Given the description of an element on the screen output the (x, y) to click on. 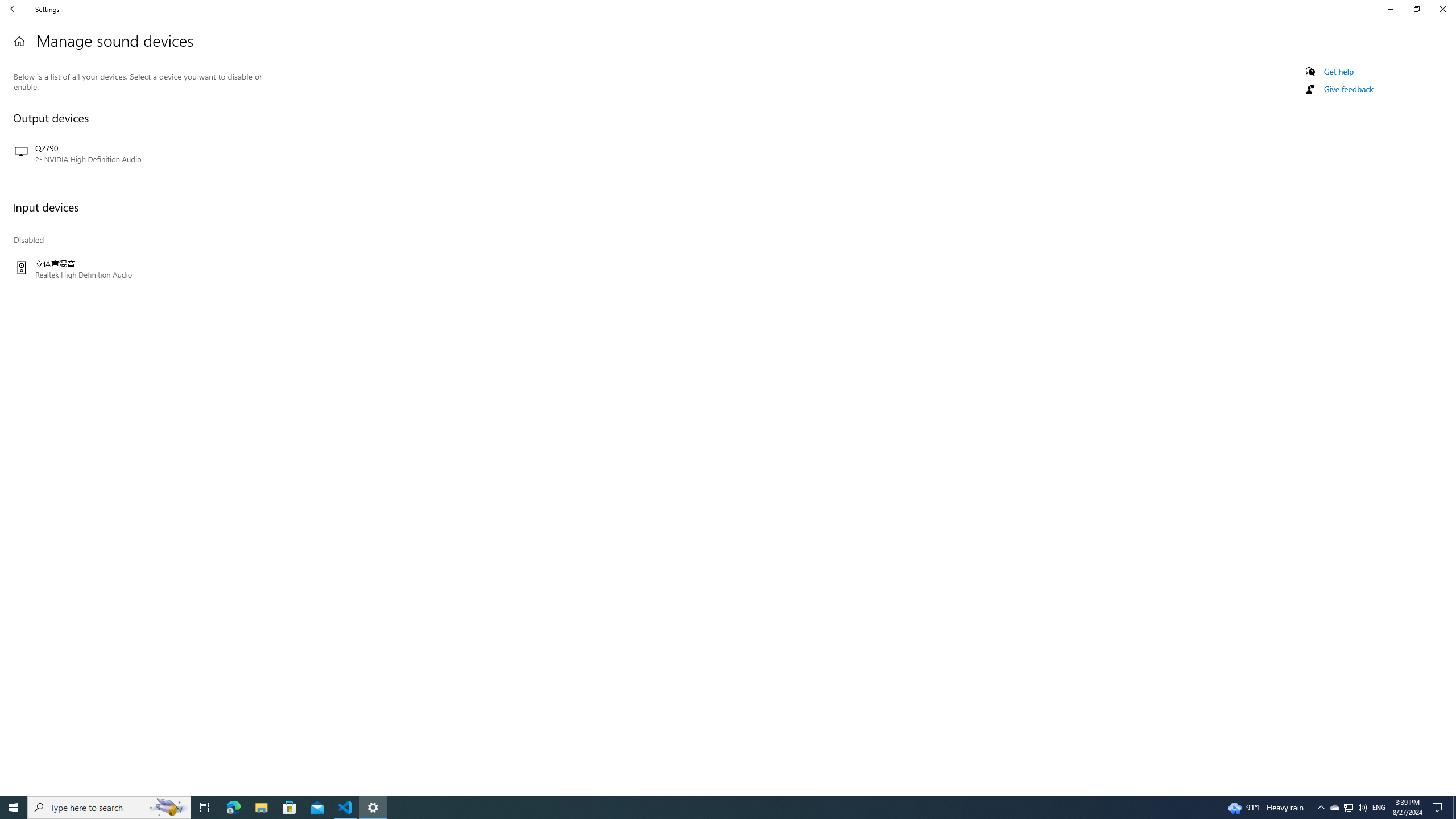
Home (19, 40)
Settings - 1 running window (373, 807)
Minimize Settings (1390, 9)
Back (13, 9)
Get help (1338, 71)
Close Settings (1442, 9)
